Given the description of an element on the screen output the (x, y) to click on. 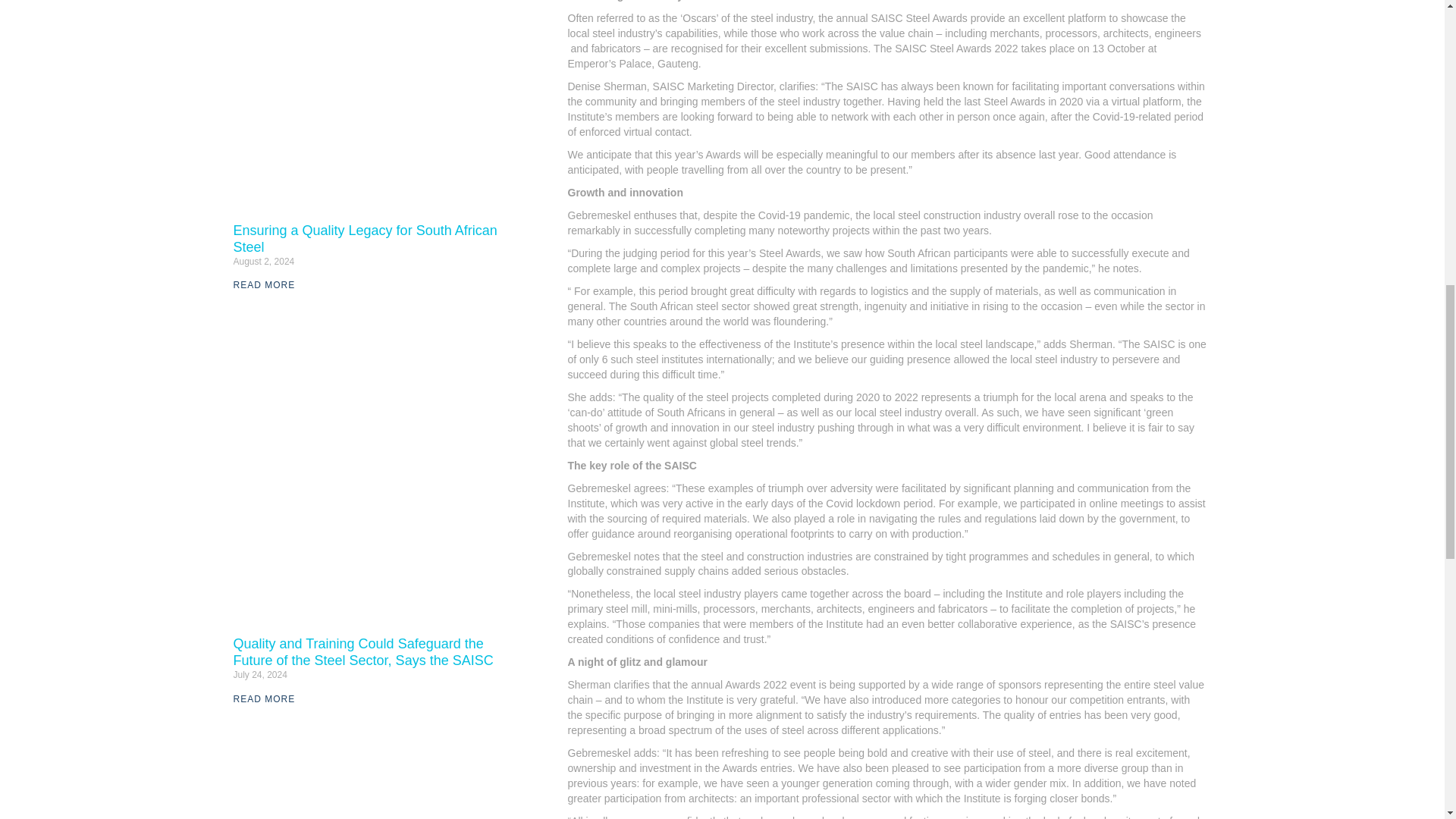
READ MORE (263, 698)
READ MORE (263, 285)
Ensuring a Quality Legacy for South African Steel (364, 238)
